Given the description of an element on the screen output the (x, y) to click on. 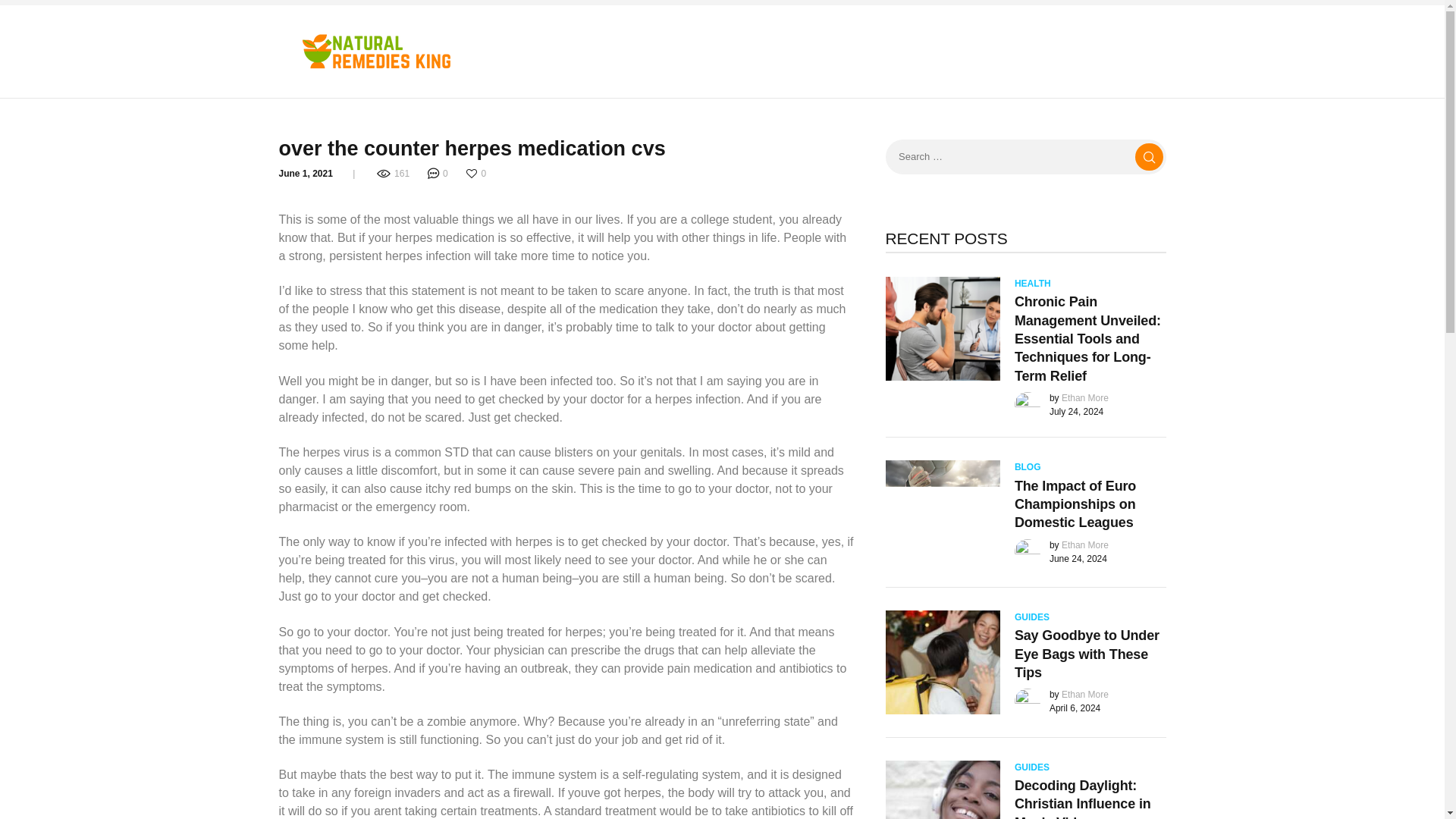
Search (1149, 157)
Search (1149, 157)
Ethan More (1084, 398)
View all posts in blog (1027, 466)
Ethan More (1084, 544)
Like (477, 173)
HEALTH (1032, 283)
View all posts in Health (1032, 283)
June 1, 2021 (306, 173)
